Given the description of an element on the screen output the (x, y) to click on. 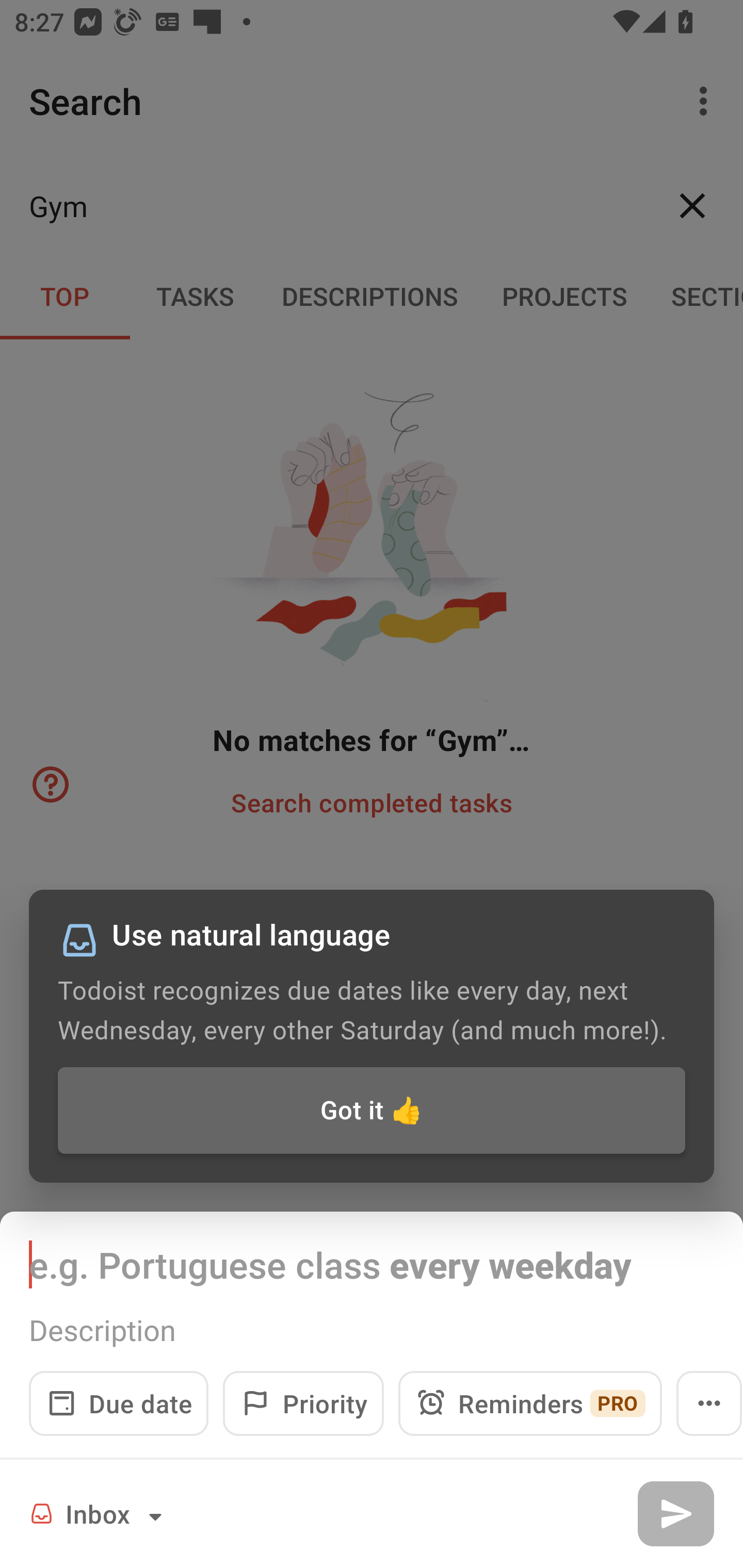
e.g. Portuguese class every weekday (371, 1264)
Description (371, 1330)
Due date Date (118, 1403)
Priority (303, 1403)
Reminders PRO Reminders (530, 1403)
Open menu (709, 1403)
Inbox Project (99, 1513)
Add (675, 1513)
